Given the description of an element on the screen output the (x, y) to click on. 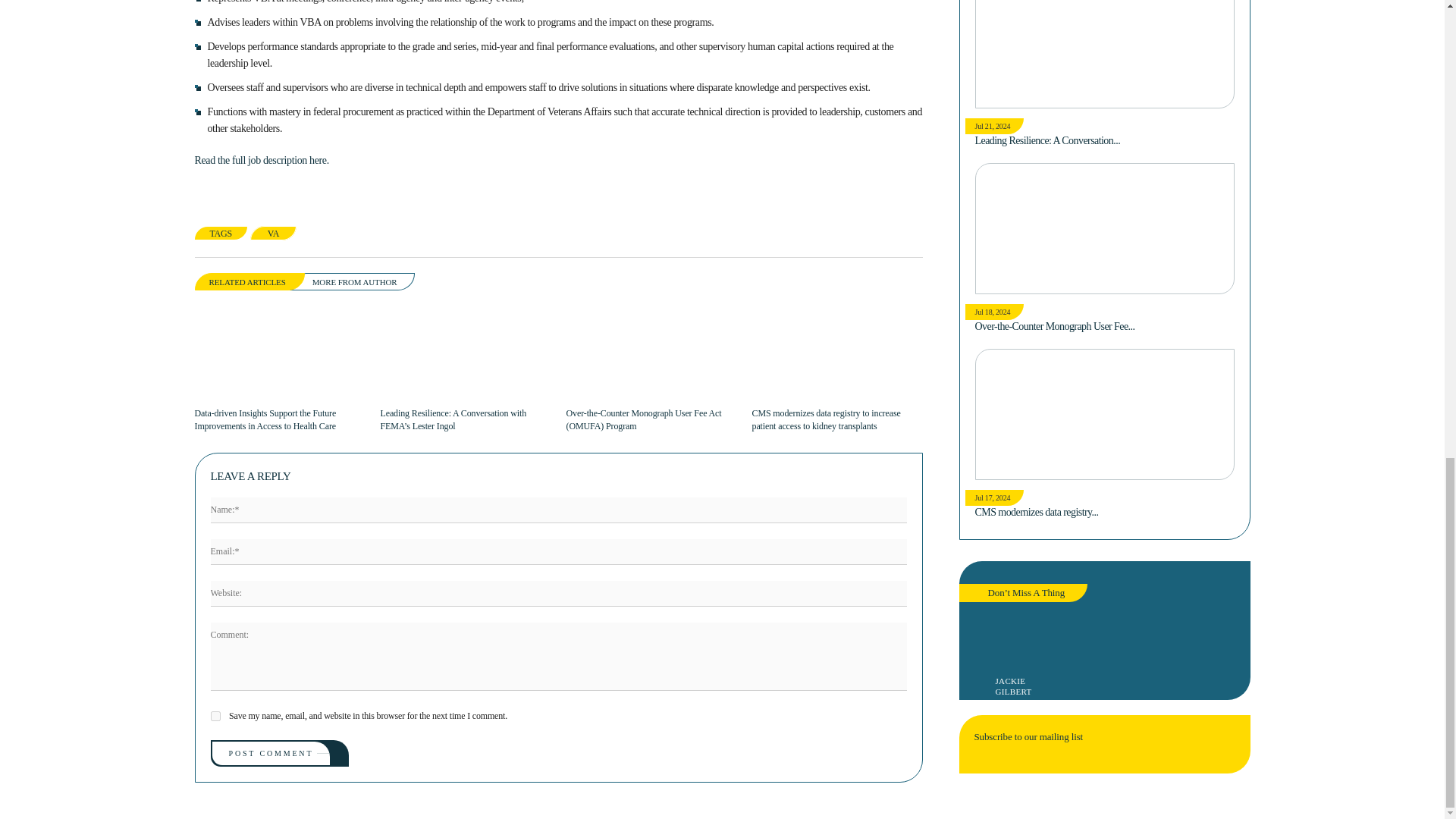
Post Comment (271, 753)
yes (216, 716)
